Given the description of an element on the screen output the (x, y) to click on. 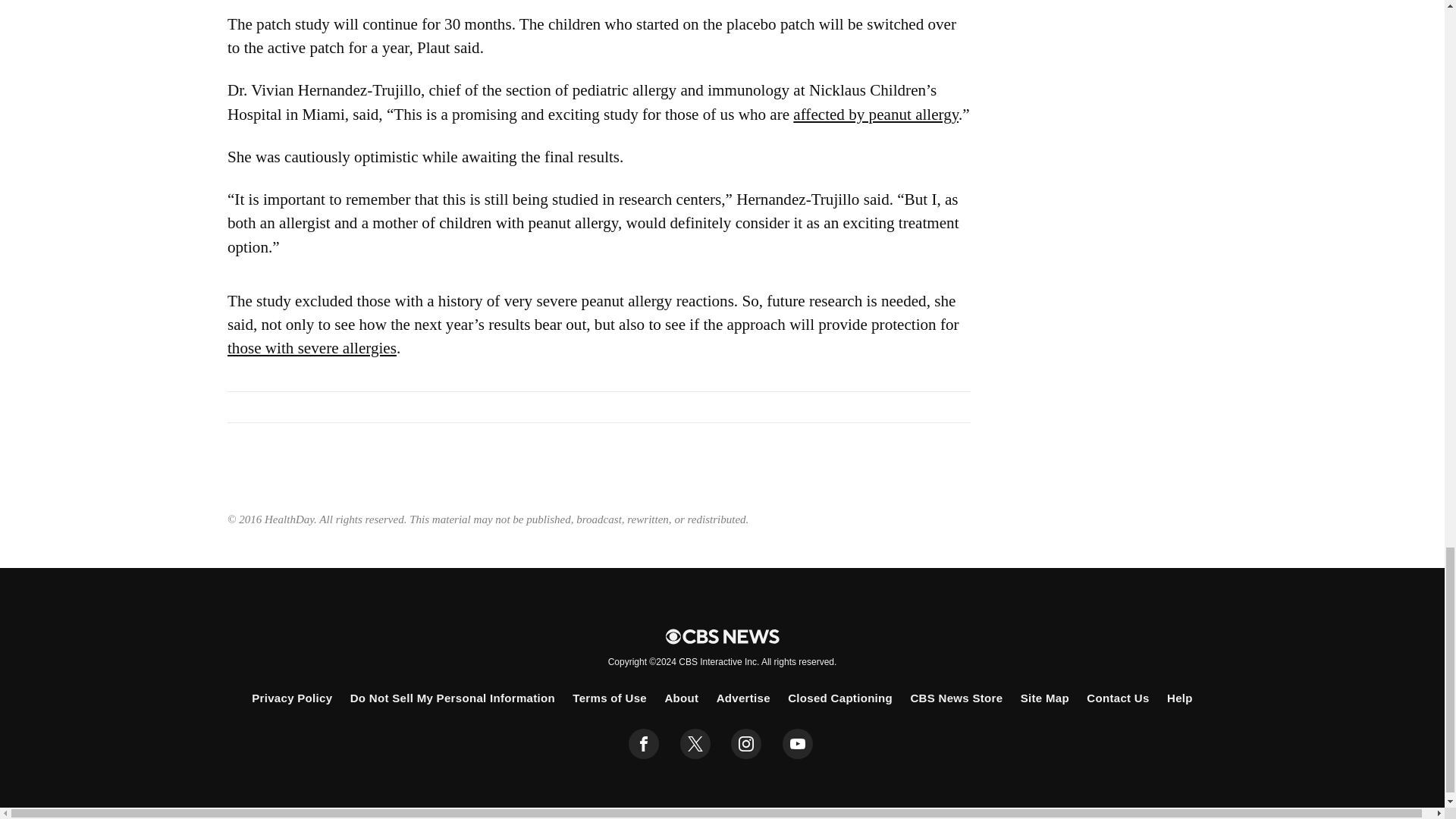
instagram (745, 743)
facebook (643, 743)
youtube (797, 743)
twitter (694, 743)
